Given the description of an element on the screen output the (x, y) to click on. 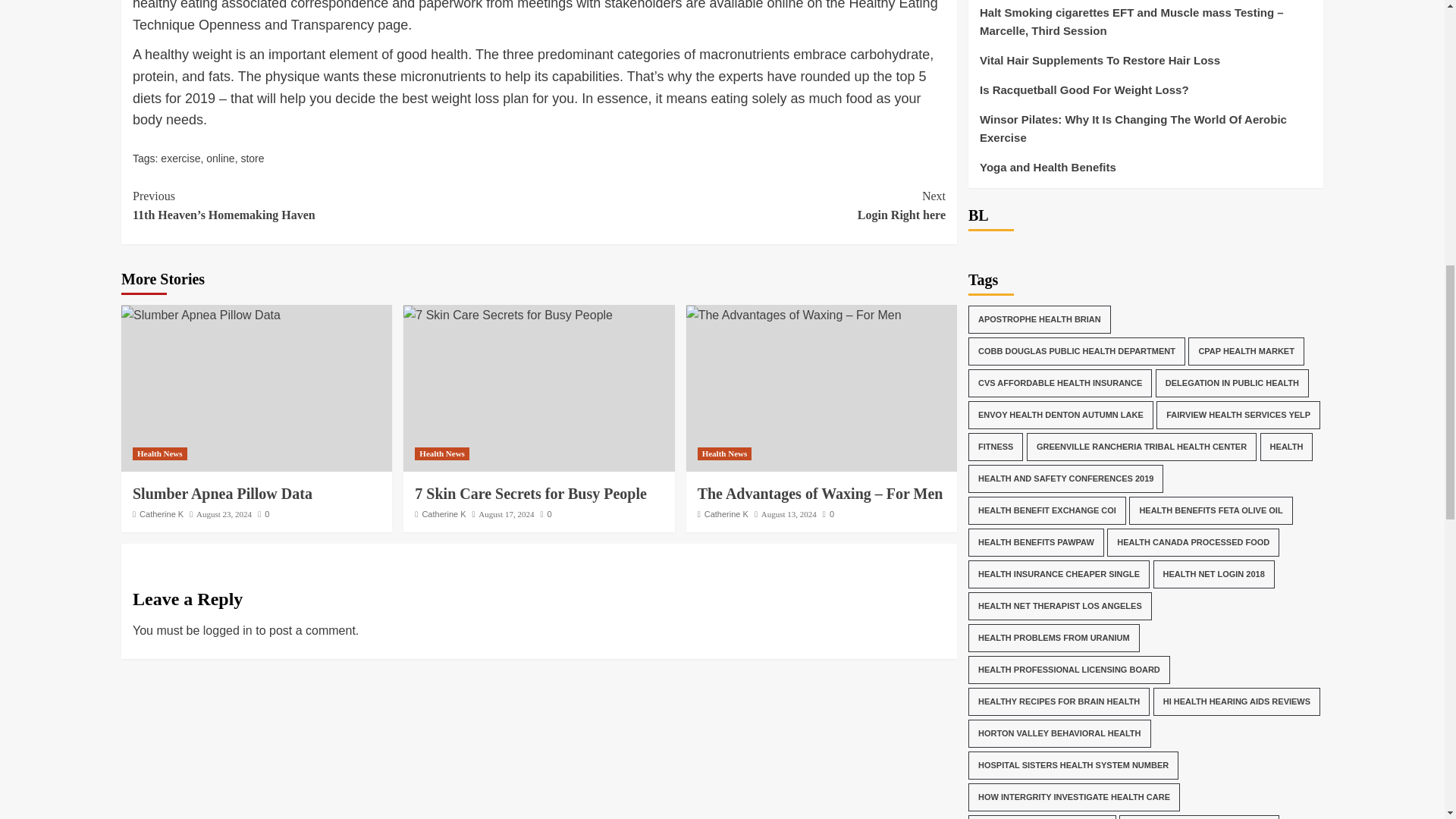
Health News (441, 453)
Catherine K (443, 513)
store (251, 158)
0 (263, 513)
Slumber Apnea Pillow Data (200, 315)
7 Skin Care Secrets for Busy People (530, 493)
0 (545, 513)
online (220, 158)
exercise (180, 158)
Catherine K (161, 513)
